Given the description of an element on the screen output the (x, y) to click on. 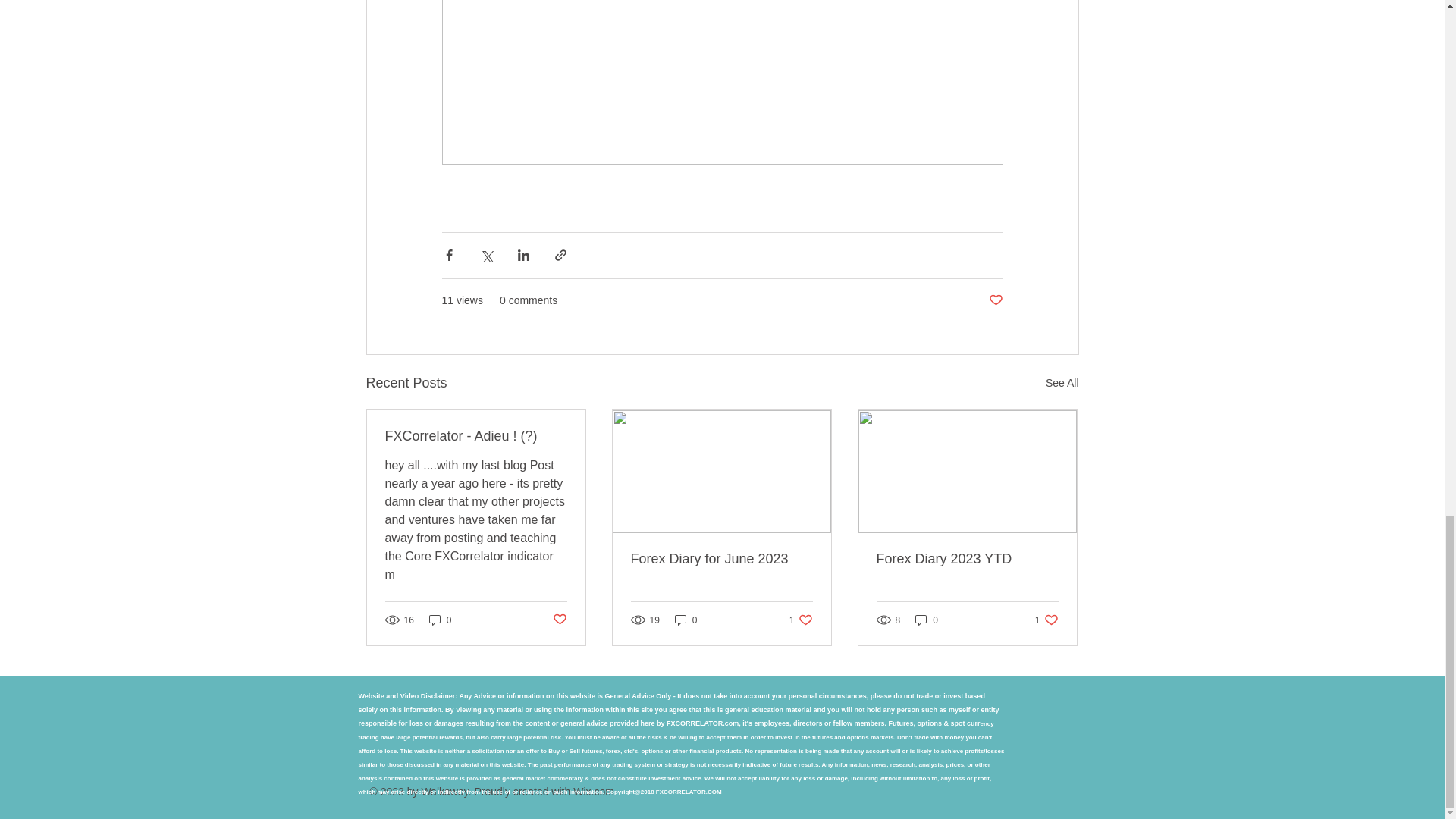
Forex Diary for June 2023 (721, 559)
0 (800, 619)
0 (685, 619)
Post not marked as liked (926, 619)
See All (995, 300)
Post not marked as liked (1061, 382)
Forex Diary 2023 YTD (558, 619)
0 (967, 559)
